Given the description of an element on the screen output the (x, y) to click on. 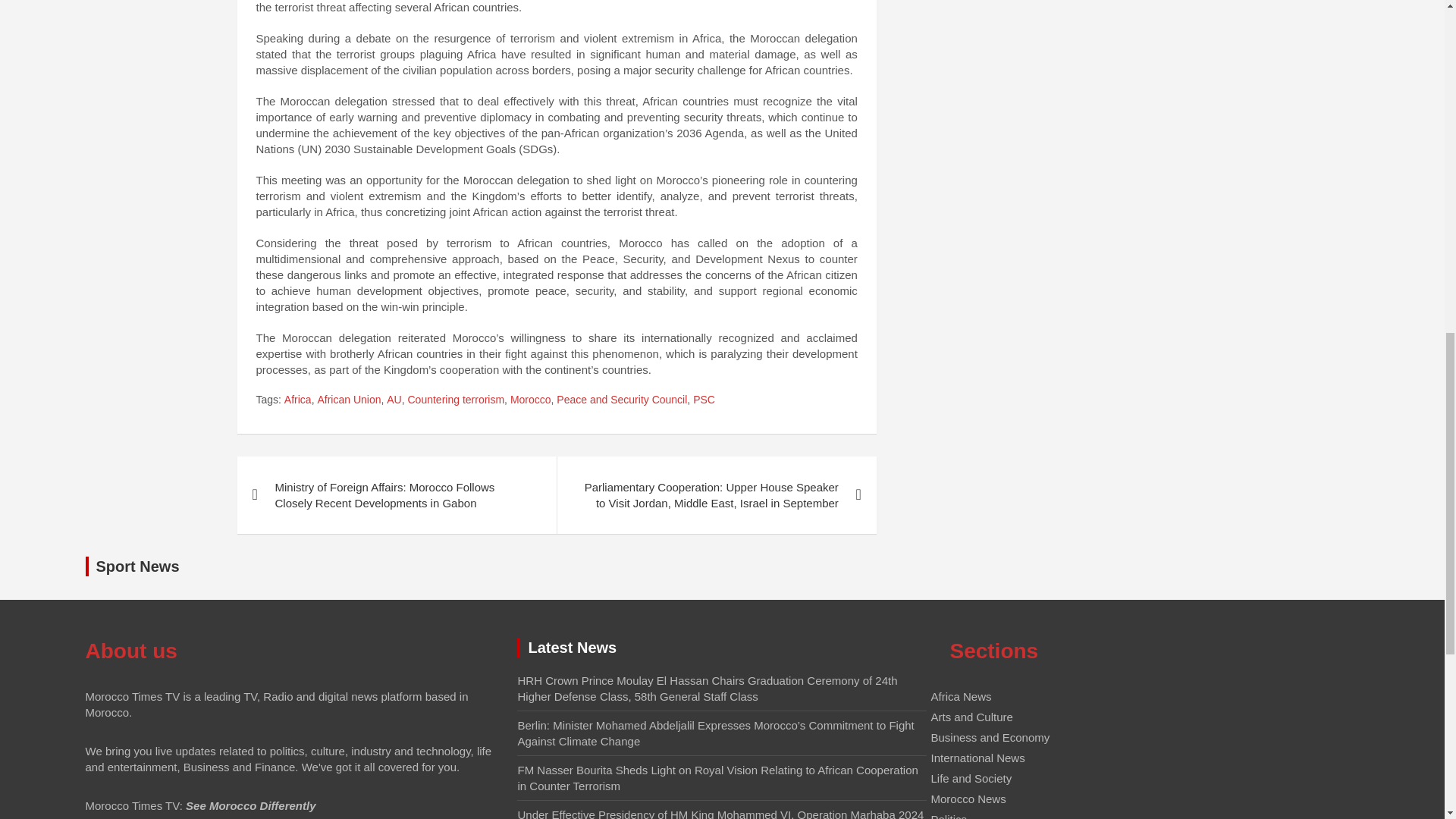
Morocco (531, 400)
African Union (348, 400)
Peace and Security Council (621, 400)
Africa (297, 400)
PSC (703, 400)
Countering terrorism (456, 400)
AU (394, 400)
